Given the description of an element on the screen output the (x, y) to click on. 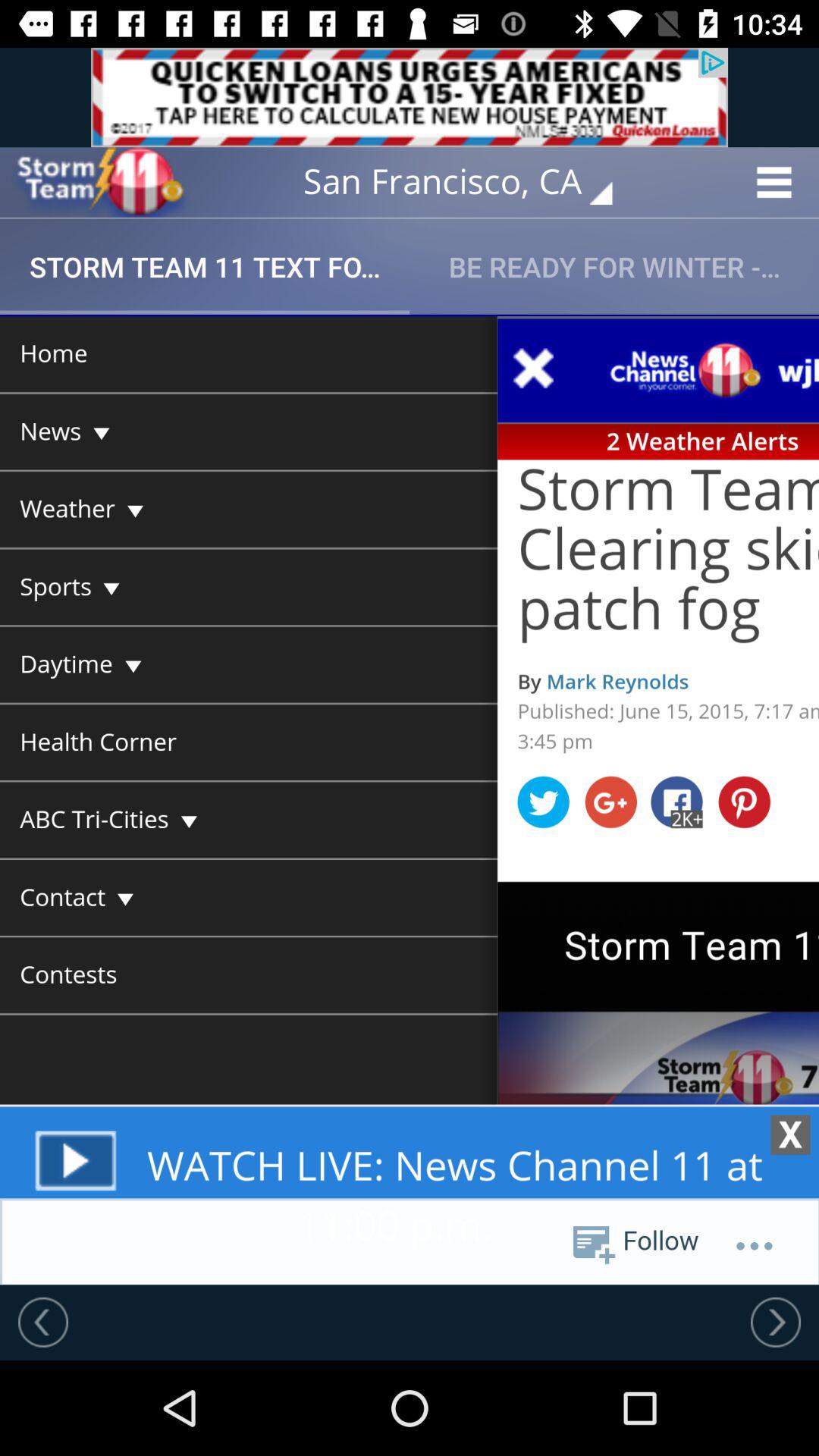
select page preferences (409, 799)
